Given the description of an element on the screen output the (x, y) to click on. 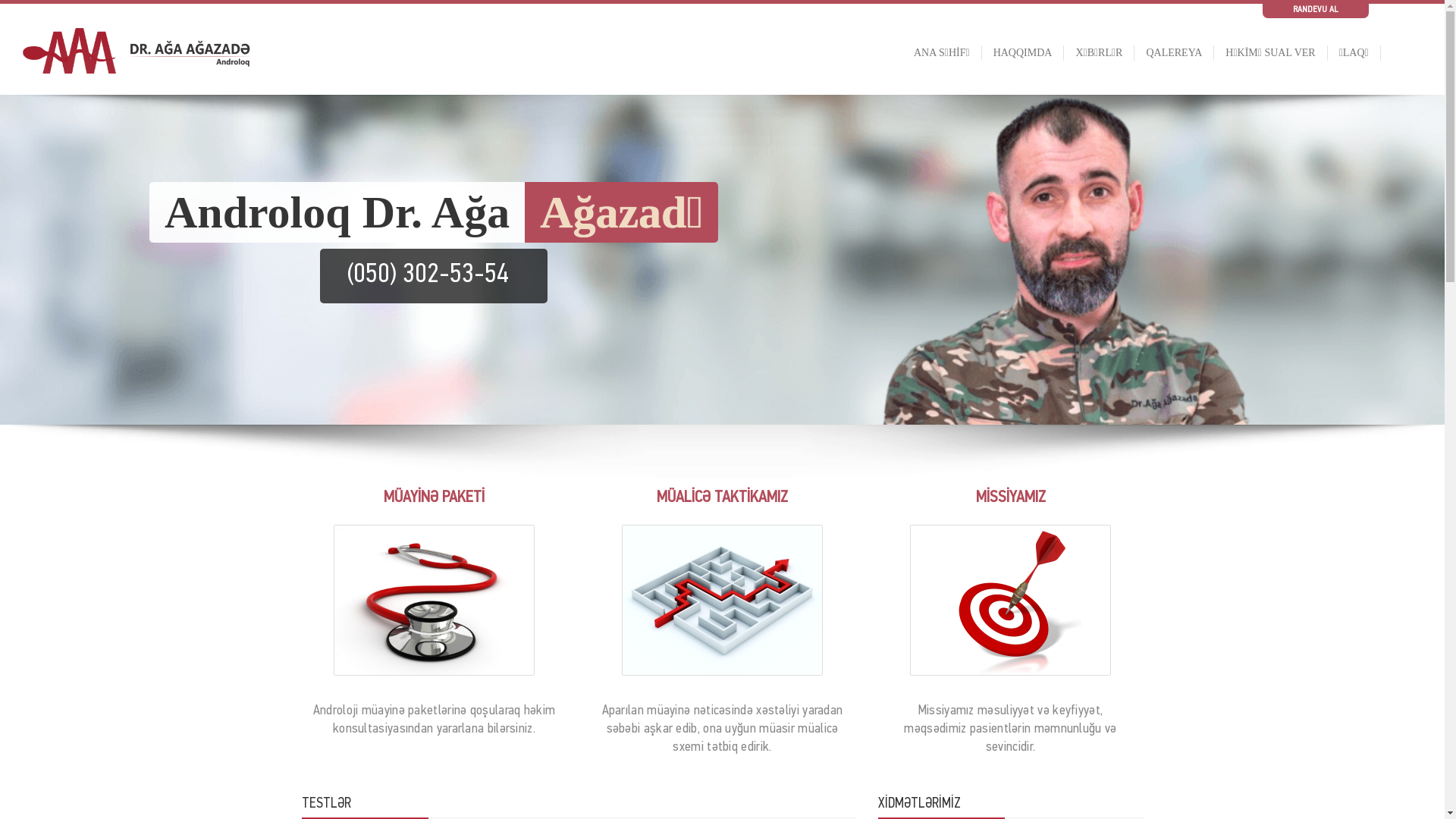
QALEREYA Element type: text (1173, 70)
RANDEVU AL Element type: text (1315, 9)
HAQQIMDA Element type: text (1022, 70)
